Given the description of an element on the screen output the (x, y) to click on. 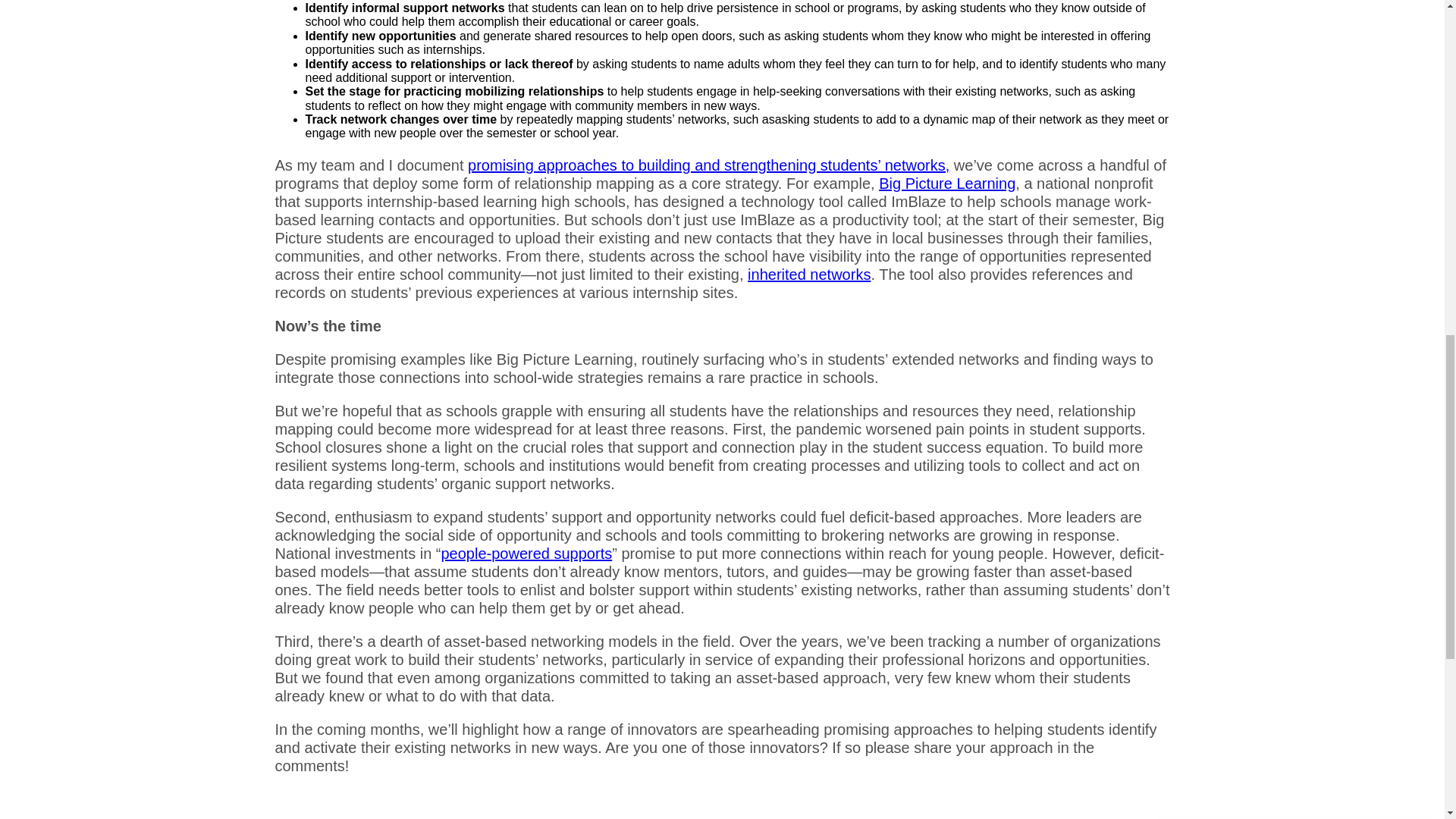
people-powered supports (526, 553)
inherited networks (809, 274)
Big Picture Learning (946, 183)
Keep Me Updated (1294, 313)
Keep Me Updated (1294, 313)
